Given the description of an element on the screen output the (x, y) to click on. 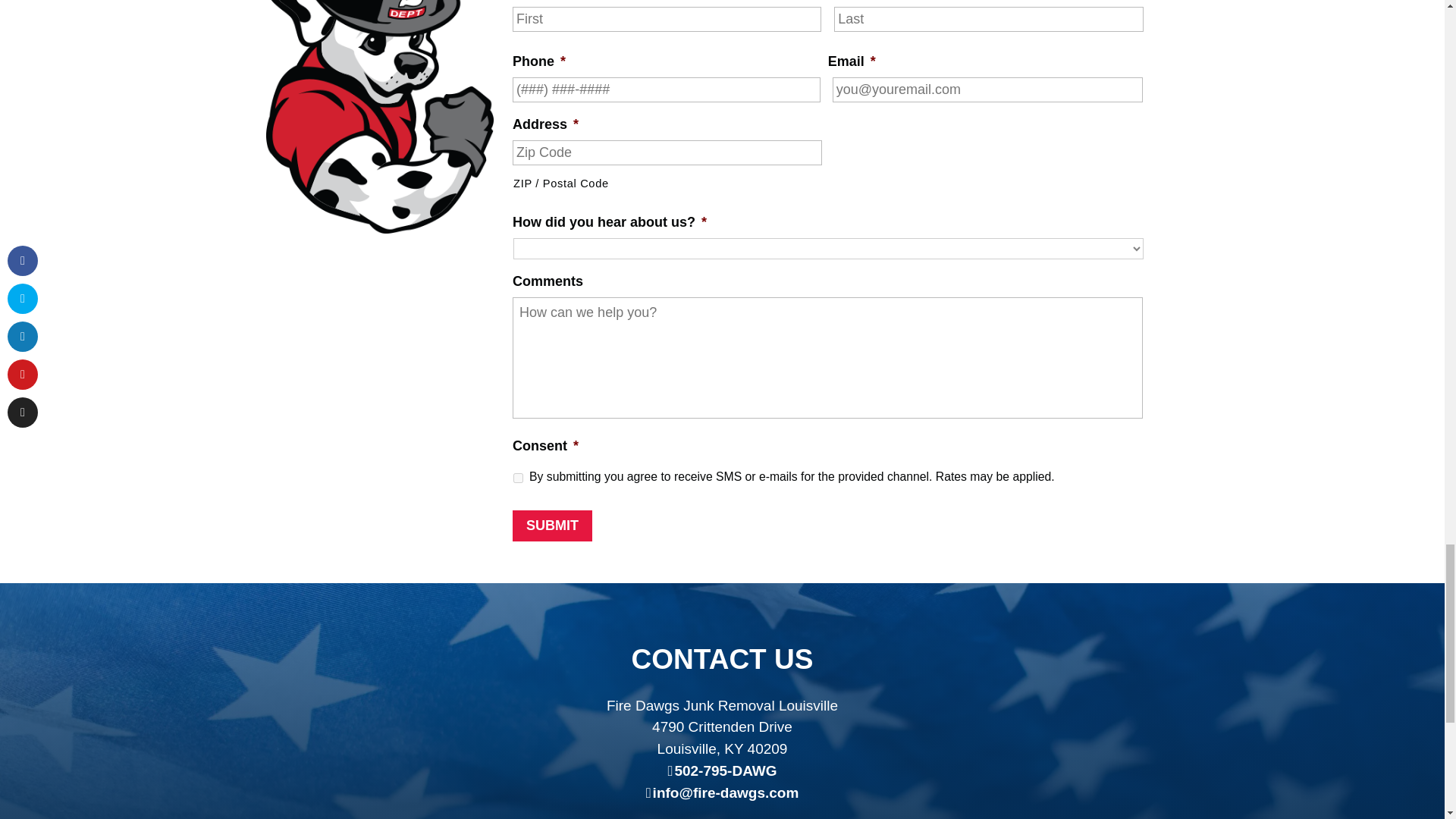
Submit (552, 525)
